Given the description of an element on the screen output the (x, y) to click on. 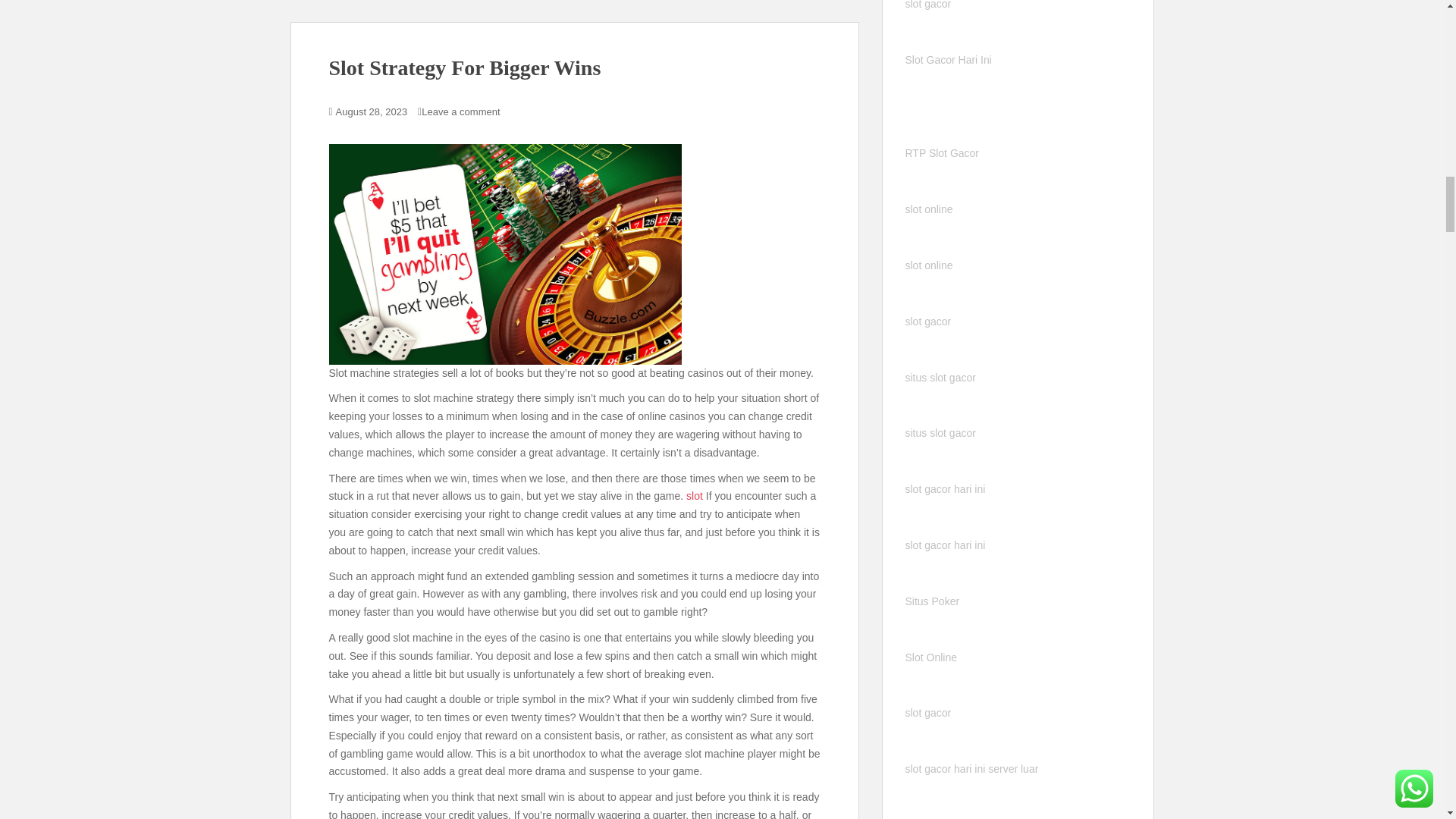
Leave a comment (460, 111)
August 28, 2023 (371, 111)
slot (694, 495)
Slot Strategy For Bigger Wins (465, 67)
